Given the description of an element on the screen output the (x, y) to click on. 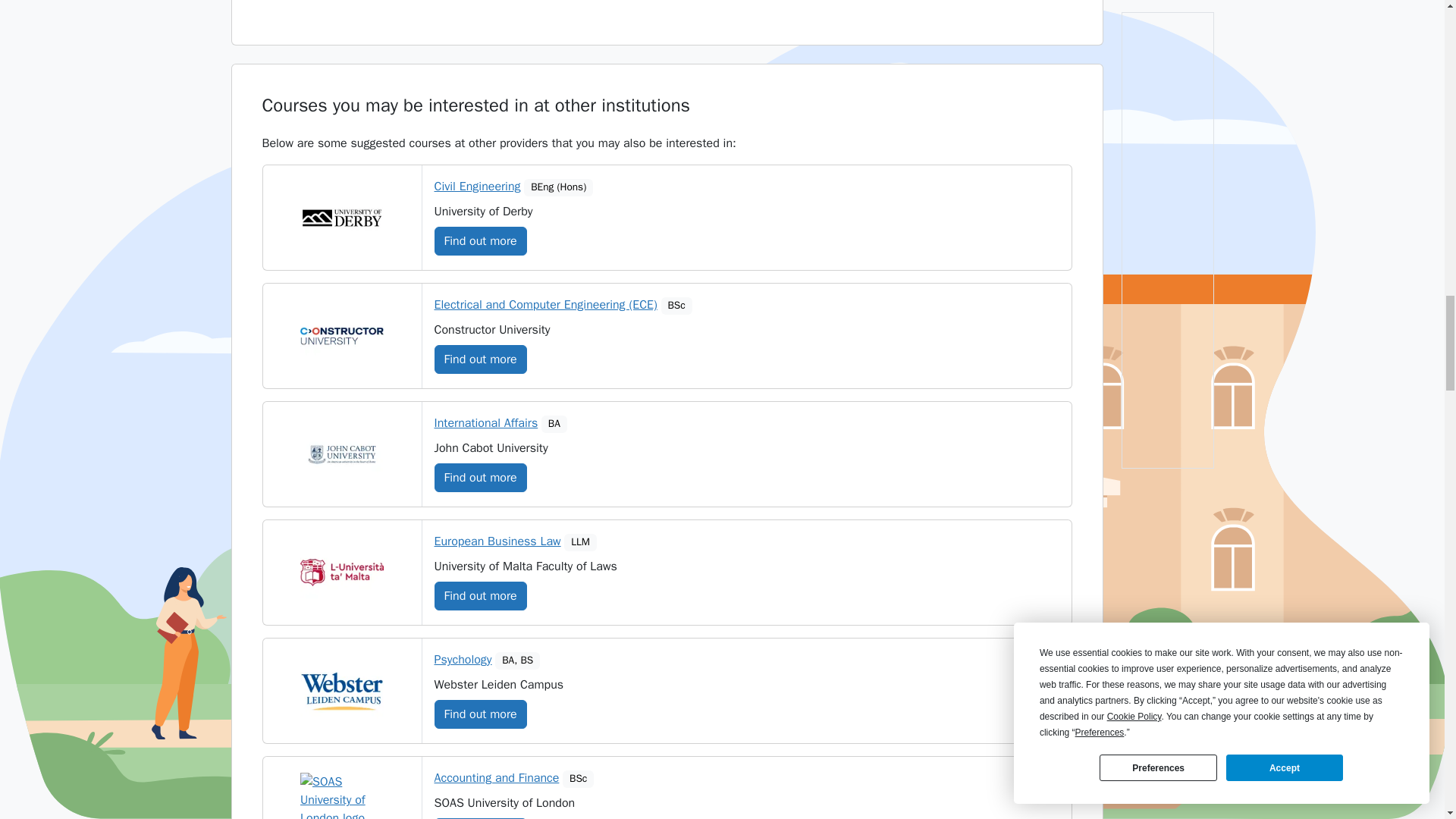
John Cabot University (341, 454)
Webster Leiden Campus (341, 691)
University of Derby (341, 217)
Constructor University (341, 335)
SOAS University of London (341, 796)
University of Malta Faculty of Laws (341, 572)
